Given the description of an element on the screen output the (x, y) to click on. 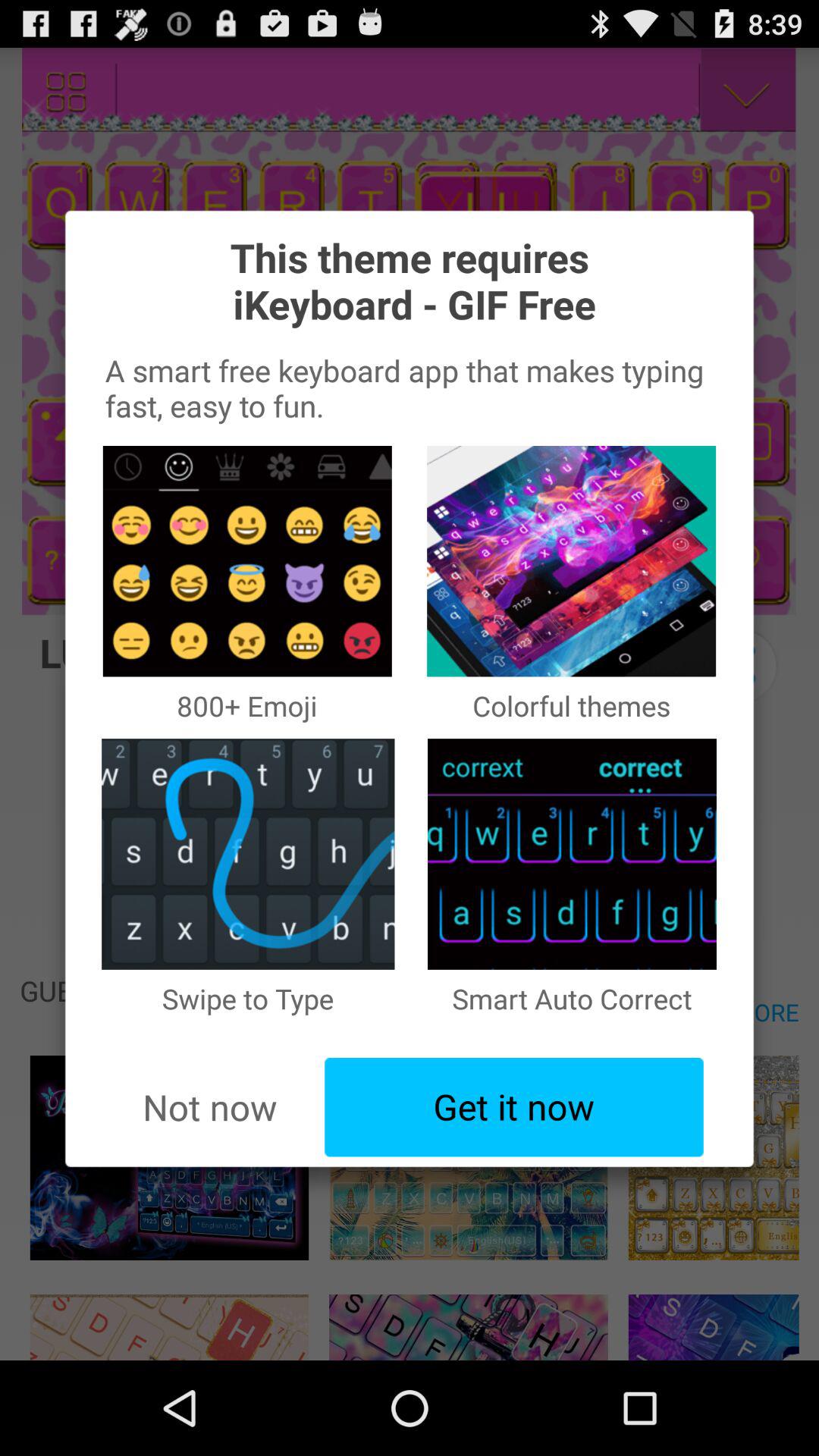
choose get it now (513, 1106)
